Given the description of an element on the screen output the (x, y) to click on. 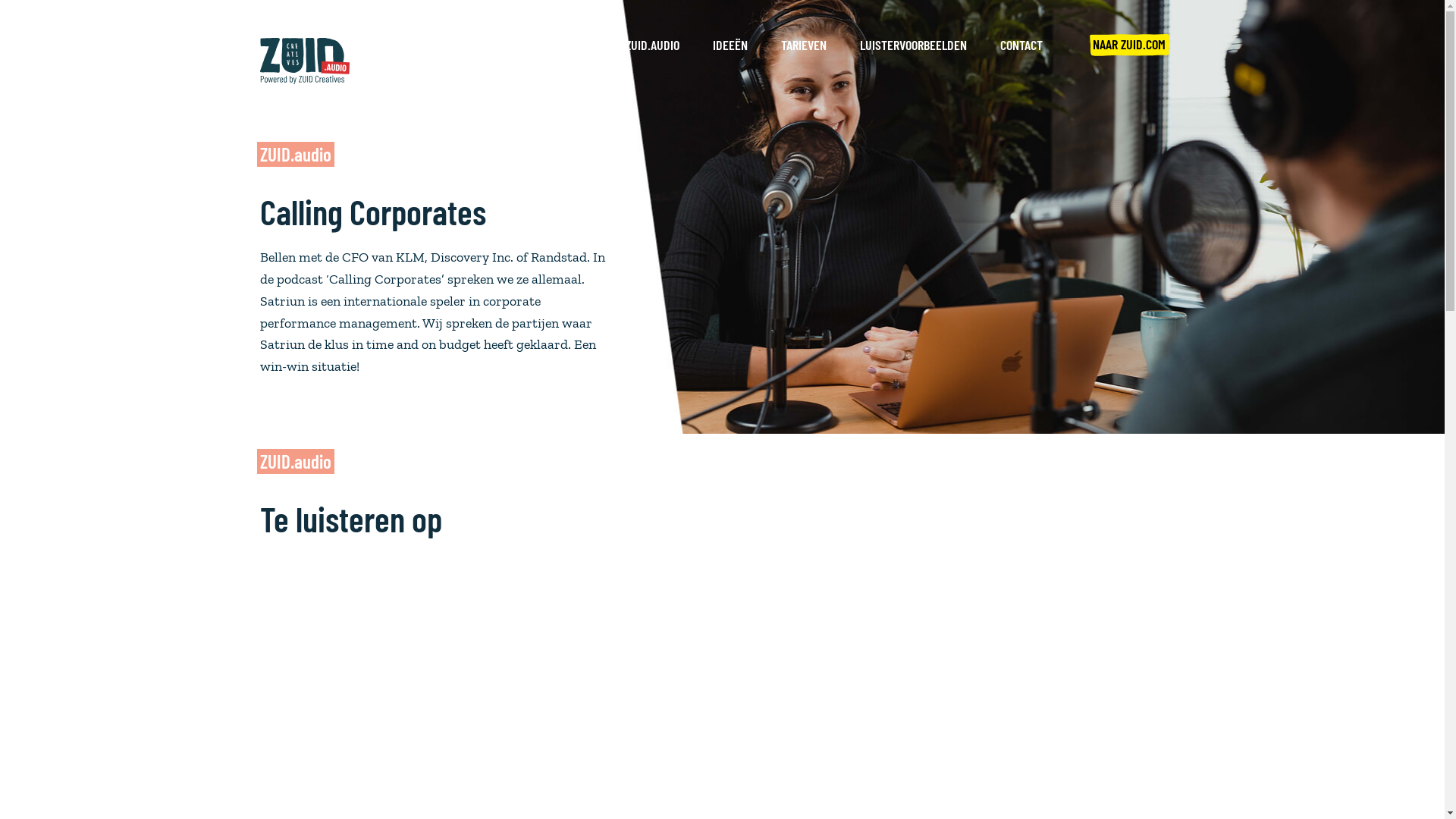
TARIEVEN Element type: text (803, 44)
Digital Experience Element type: text (313, 699)
LUISTERVOORBEELDEN Element type: text (913, 44)
Brandgang Element type: text (928, 597)
NAAR ZUID.COM Element type: text (1128, 45)
Content Marketing Element type: text (315, 677)
Branding & Campaigns Element type: text (327, 656)
Terms of Use Element type: text (844, 791)
zuid-audio-logo-groot Element type: hover (303, 60)
CONTACT Element type: text (1020, 44)
ZUID Creatives Element type: text (1044, 554)
hello@zuid.com Element type: text (305, 619)
ZUID.AUDIO Element type: text (651, 44)
Extrafazant.nl Element type: text (1108, 575)
